Given the description of an element on the screen output the (x, y) to click on. 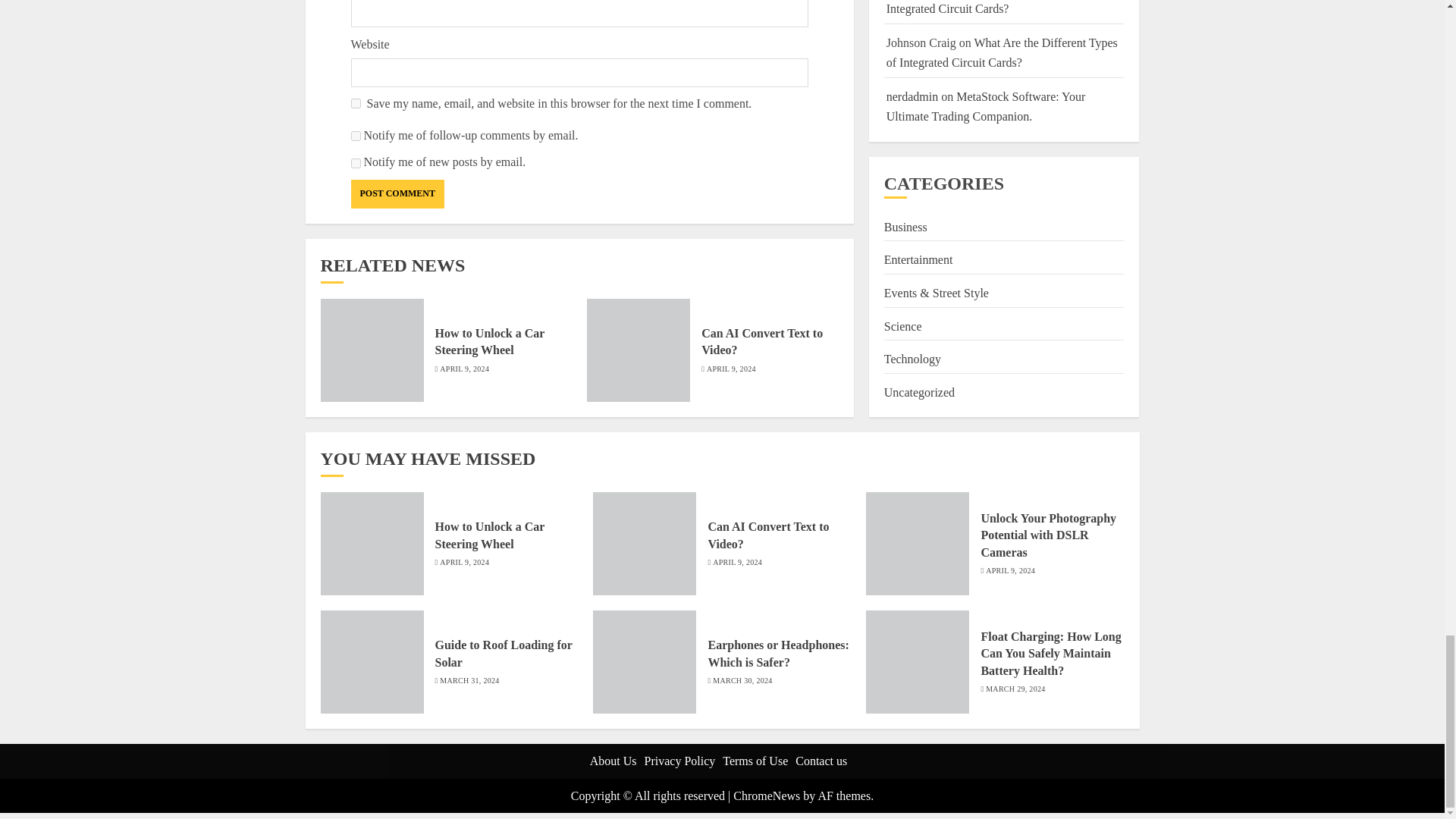
Post Comment (397, 193)
Can AI Convert Text to Video? (761, 341)
APRIL 9, 2024 (464, 368)
yes (354, 103)
Post Comment (397, 193)
subscribe (354, 163)
How to Unlock a Car Steering Wheel (489, 341)
APRIL 9, 2024 (730, 368)
subscribe (354, 135)
